Given the description of an element on the screen output the (x, y) to click on. 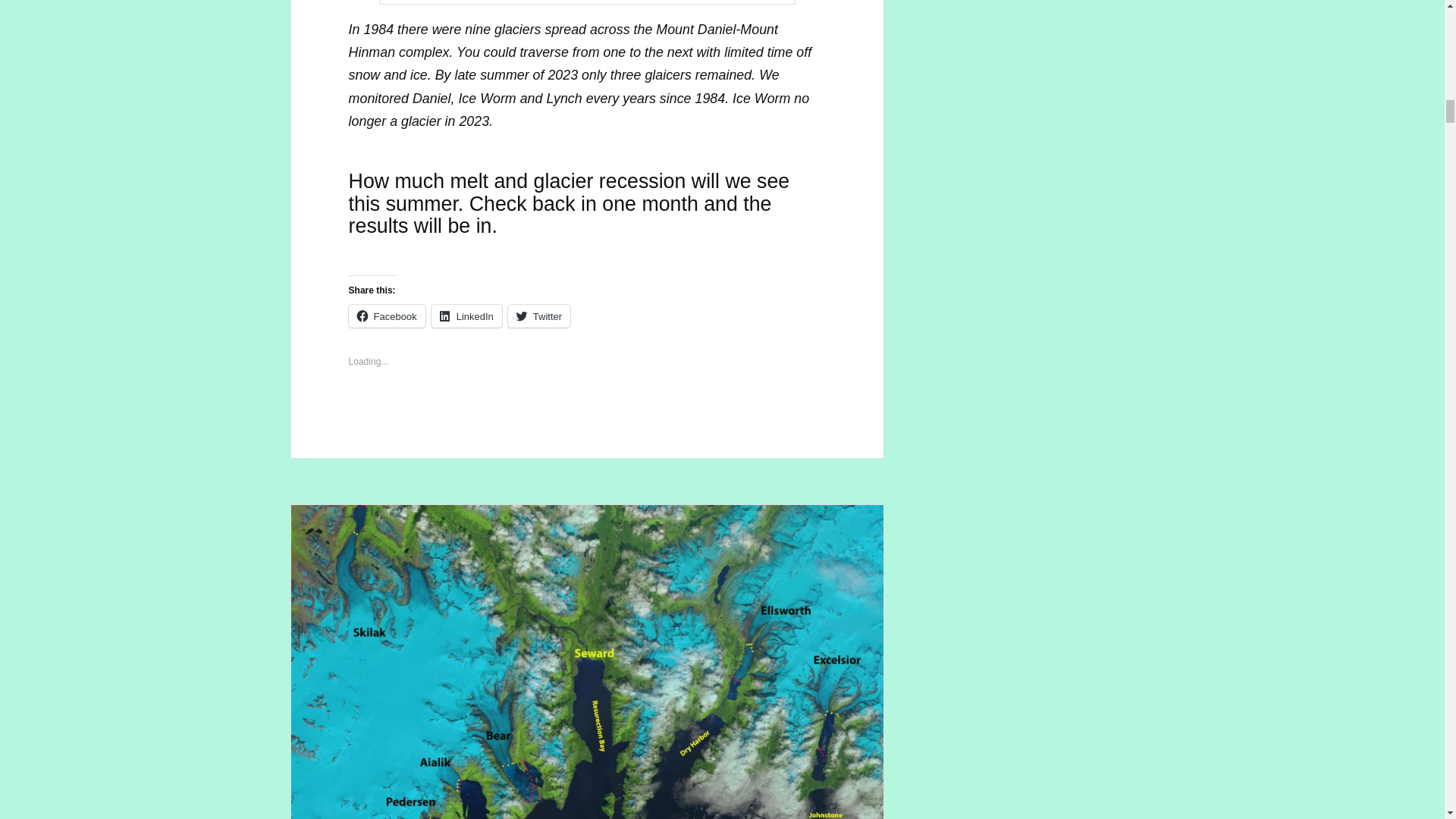
Click to share on Facebook (387, 315)
Facebook (387, 315)
Click to share on Twitter (539, 315)
Twitter (539, 315)
Click to share on LinkedIn (466, 315)
LinkedIn (466, 315)
